Given the description of an element on the screen output the (x, y) to click on. 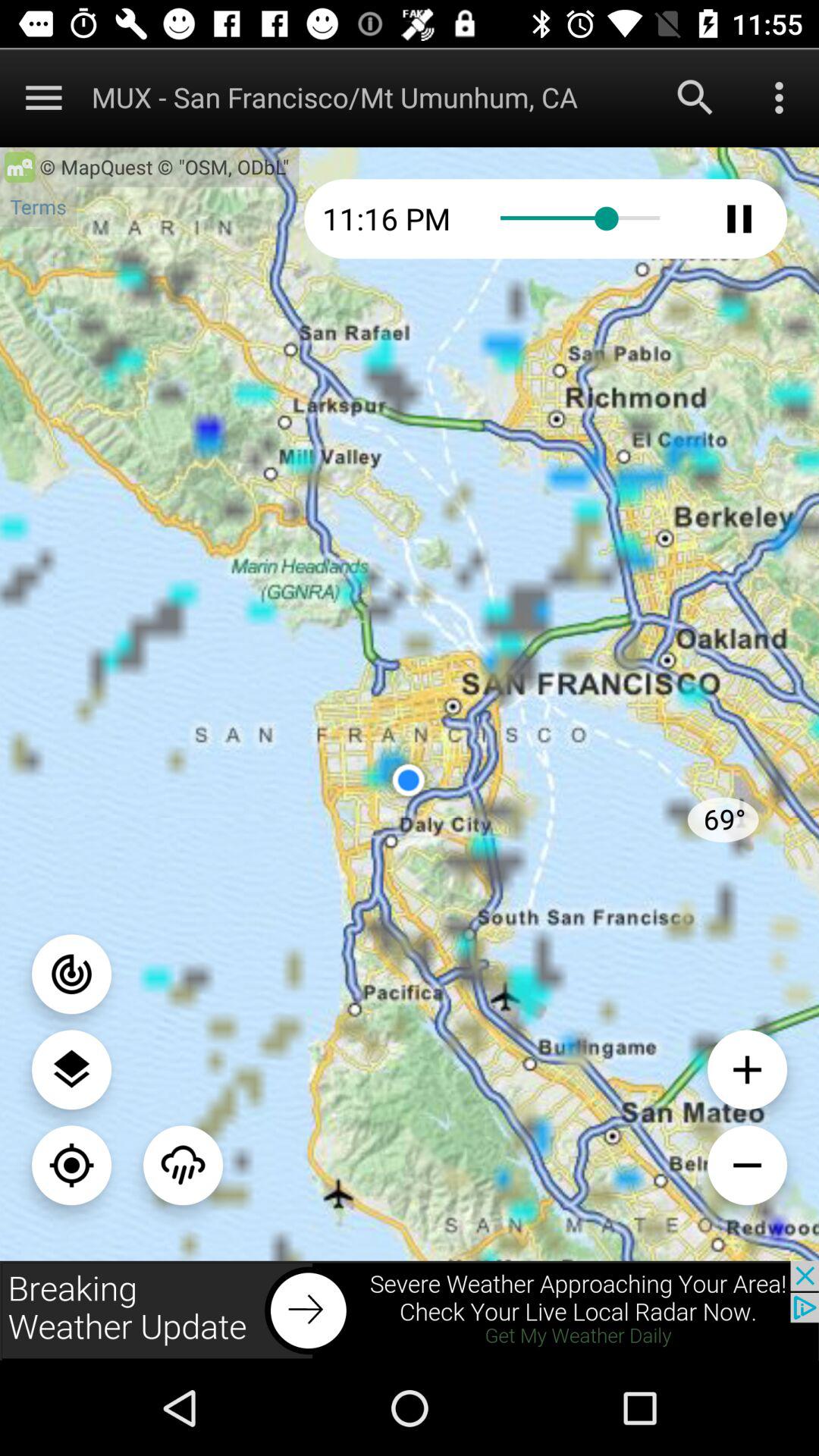
menu icon (43, 97)
